Given the description of an element on the screen output the (x, y) to click on. 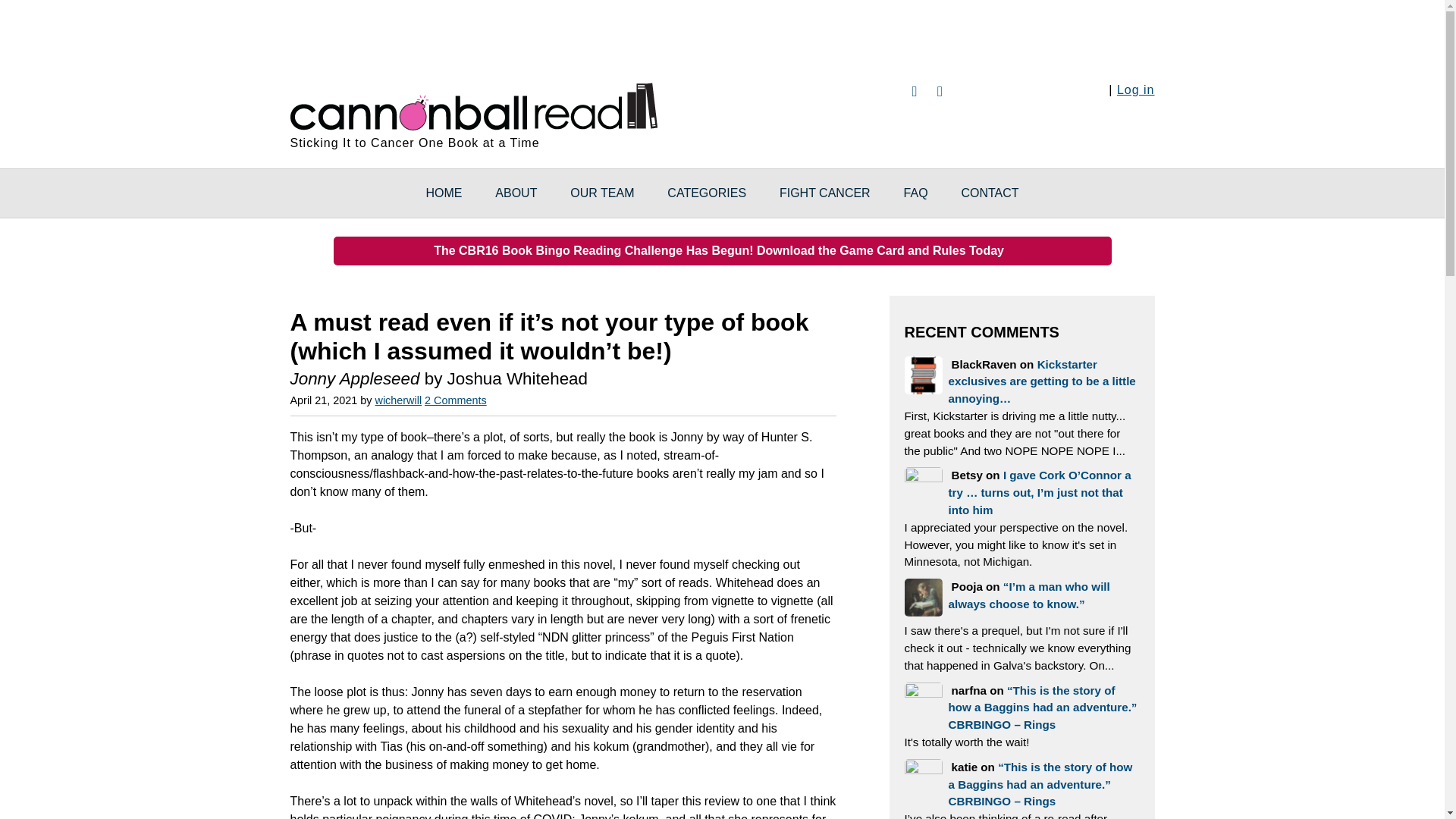
ABOUT (515, 192)
HOME (443, 192)
FAQ (915, 192)
OUR TEAM (601, 192)
CANNONBALL READ 16 (473, 103)
CONTACT (988, 192)
FIGHT CANCER (824, 192)
CATEGORIES (706, 192)
Log in (1135, 89)
